Given the description of an element on the screen output the (x, y) to click on. 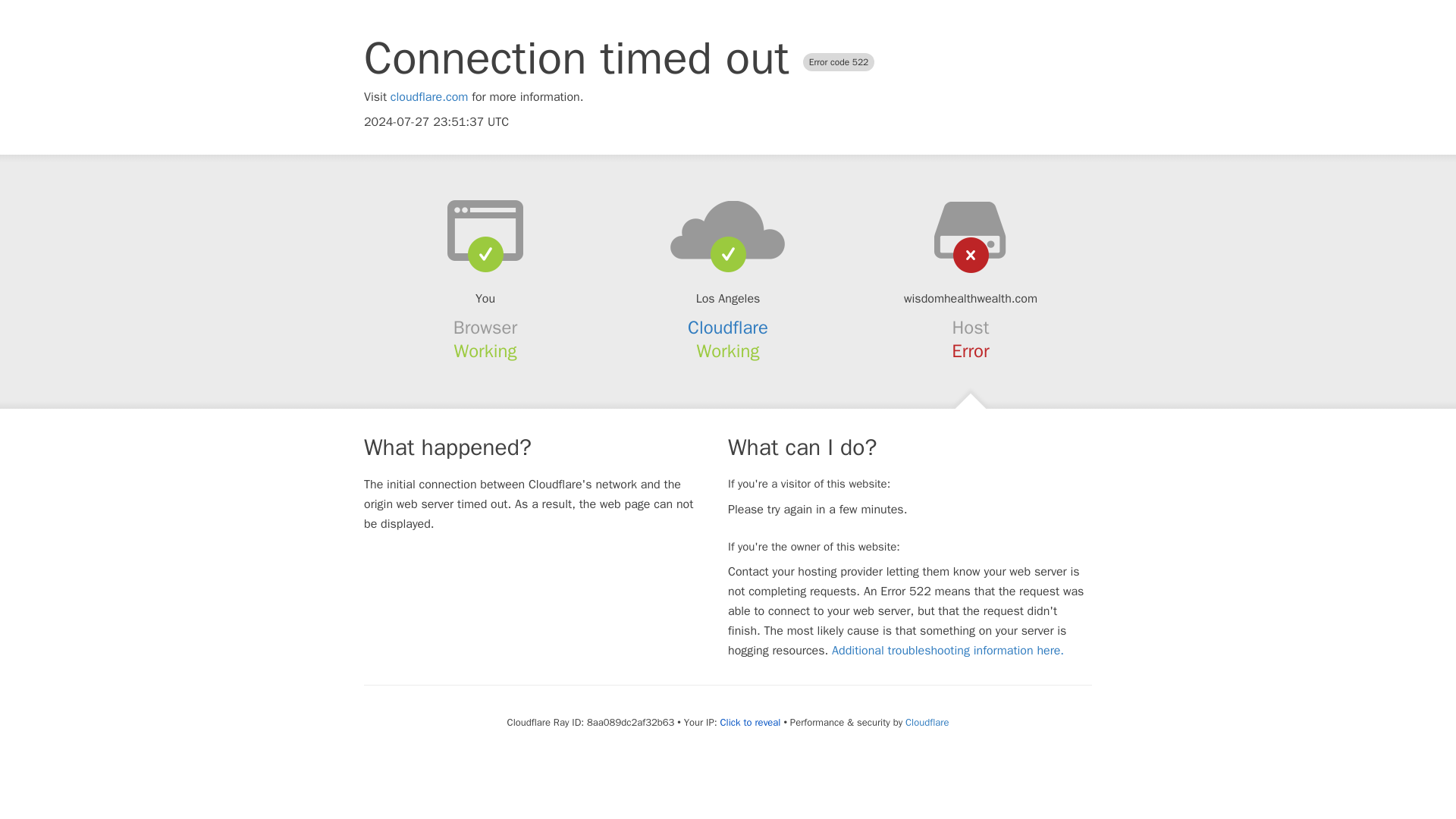
Cloudflare (727, 327)
cloudflare.com (429, 96)
Cloudflare (927, 721)
Additional troubleshooting information here. (947, 650)
Click to reveal (750, 722)
